Given the description of an element on the screen output the (x, y) to click on. 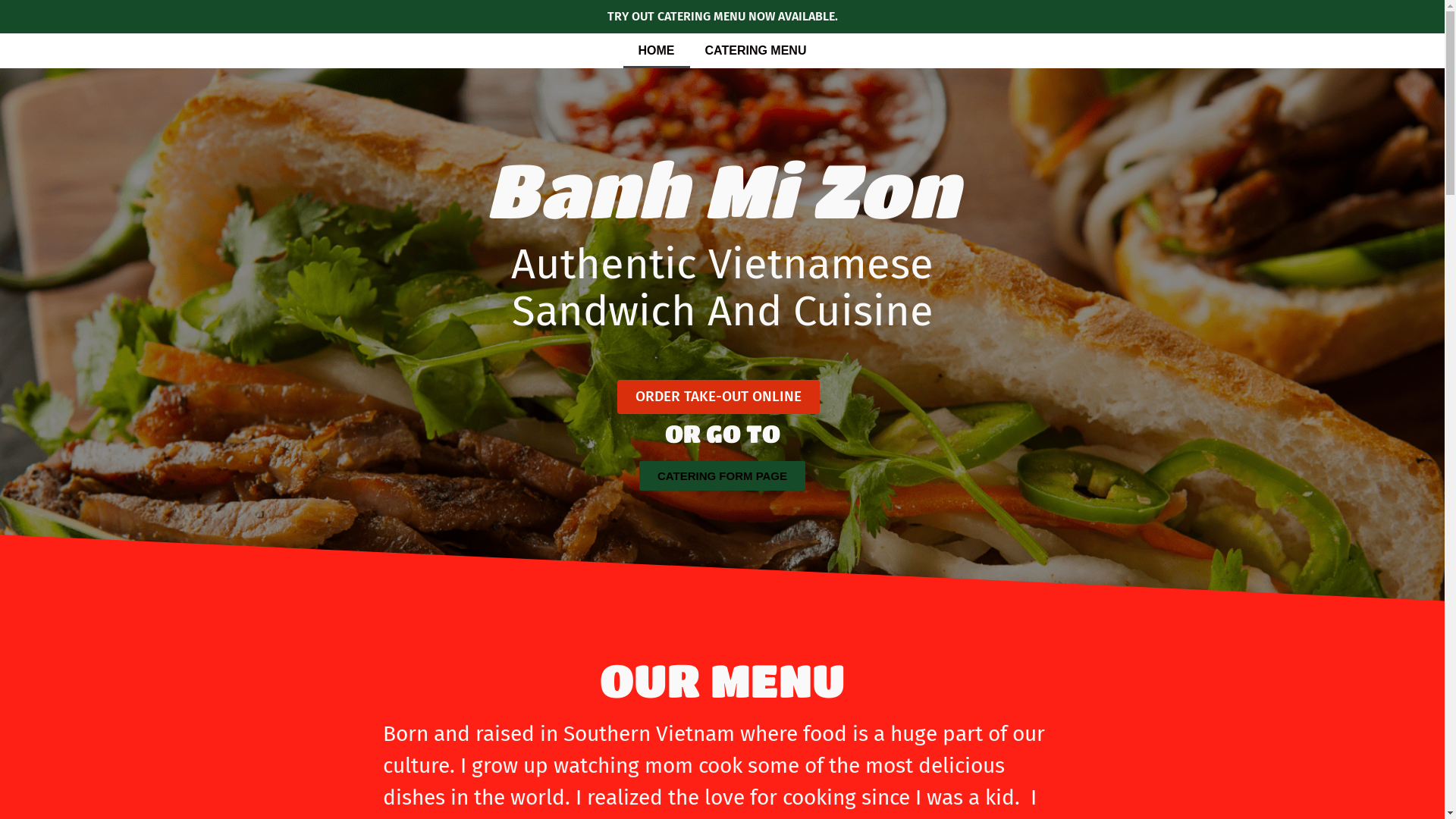
CATERING FORM PAGE Element type: text (722, 475)
CATERING MENU Element type: text (756, 50)
HOME Element type: text (656, 50)
